Given the description of an element on the screen output the (x, y) to click on. 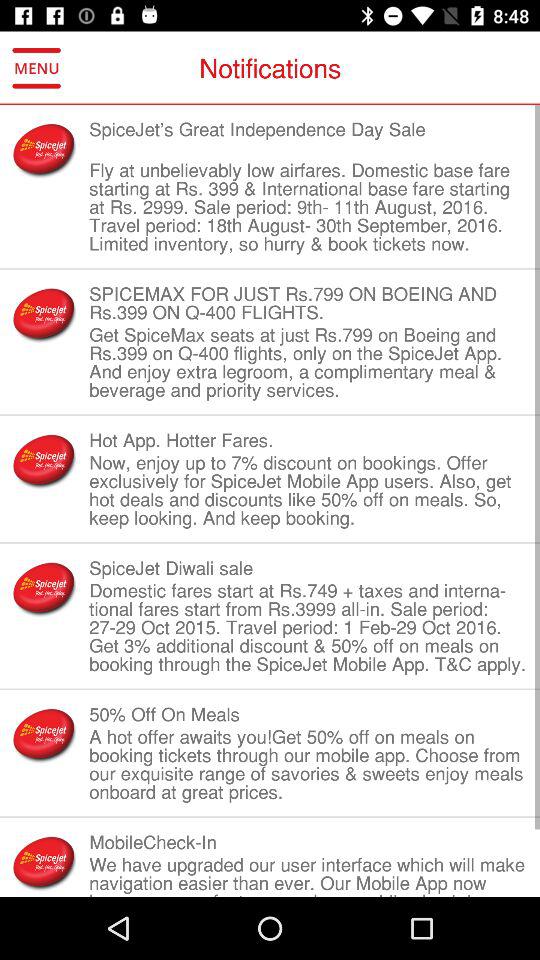
turn on item next to the spicejet s great icon (44, 149)
